Given the description of an element on the screen output the (x, y) to click on. 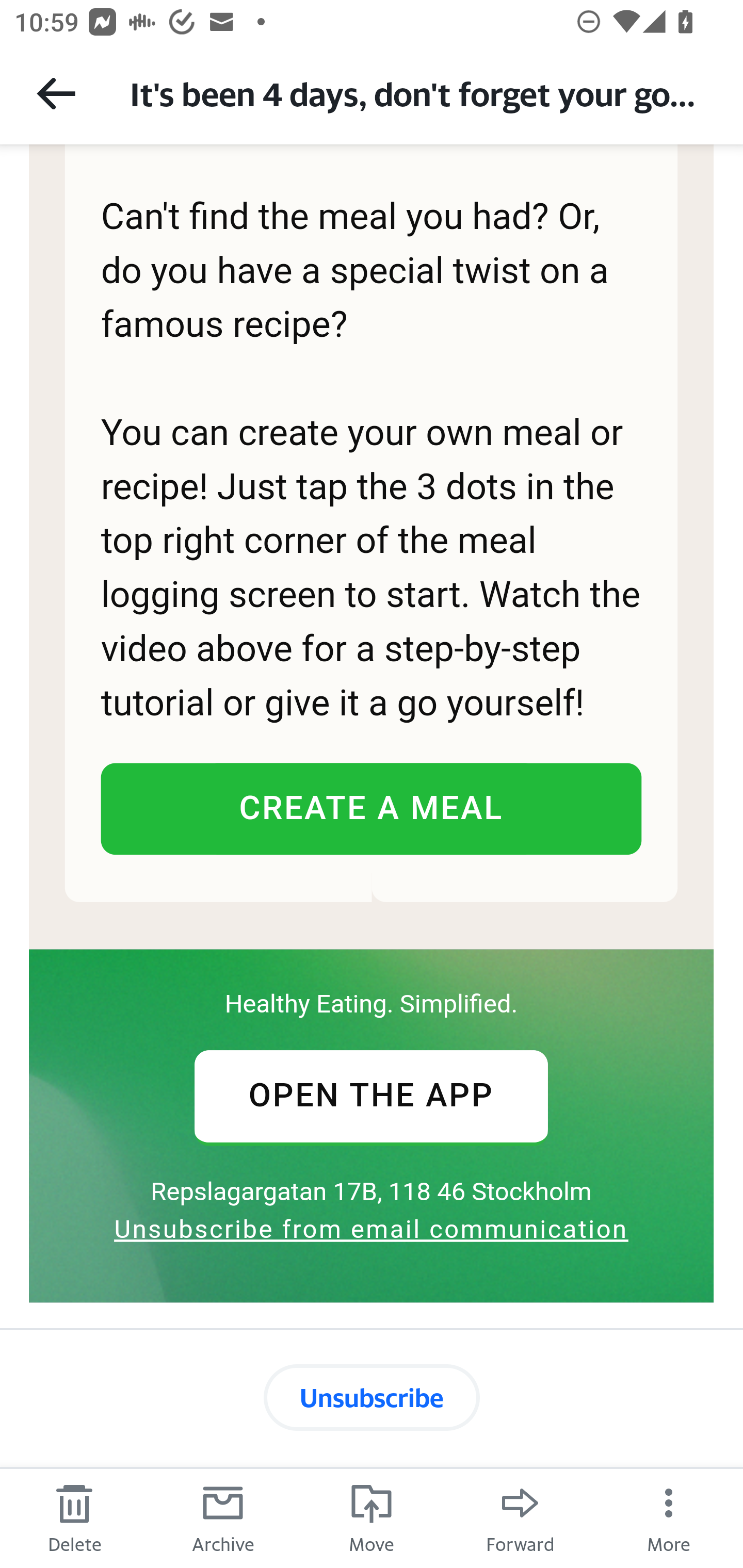
Back (55, 92)
CREATE A MEAL (371, 808)
OPEN THE APP (370, 1095)
Unsubscribe from email communication (370, 1228)
Unsubscribe (371, 1397)
Delete (74, 1517)
Archive (222, 1517)
Move (371, 1517)
Forward (519, 1517)
More (668, 1517)
